Given the description of an element on the screen output the (x, y) to click on. 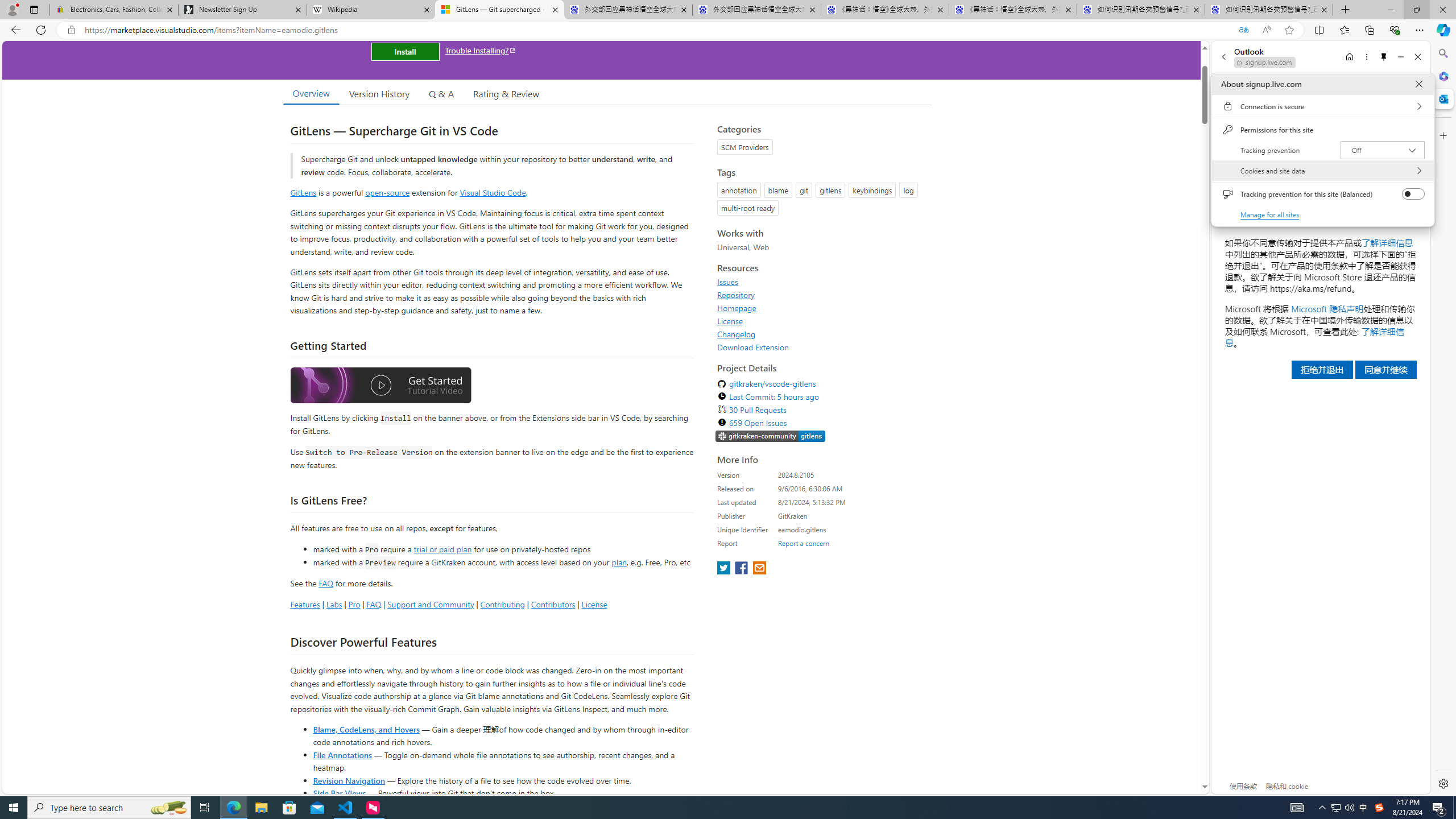
Notification Chevron (1322, 807)
Manage for all sites (1270, 214)
Search highlights icon opens search home window (167, 807)
Cookies and site data (1322, 170)
Type here to search (1335, 807)
Tray Input Indicator - Chinese (Simplified, China) (108, 807)
Task View (1378, 807)
Visual Studio Code - 1 running window (204, 807)
User Promoted Notification Area (345, 807)
AutomationID: 4105 (1342, 807)
Microsoft Store (1297, 807)
